Given the description of an element on the screen output the (x, y) to click on. 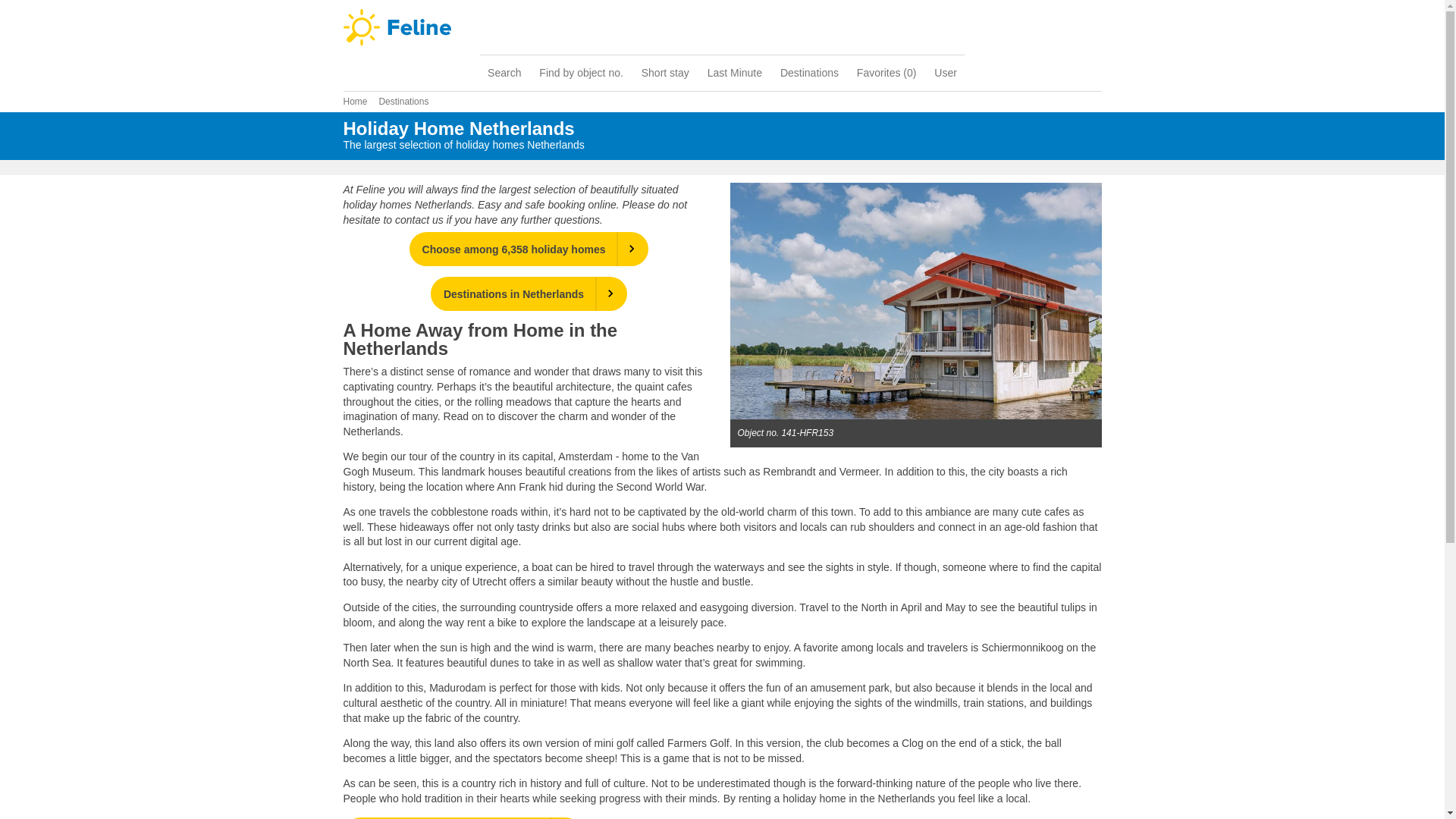
User (944, 73)
Feline Holidays (721, 27)
Destinations in Netherlands (528, 293)
Last Minute (735, 73)
Choose among 6,358 holiday homes (529, 248)
Short stay (665, 73)
Destinations (809, 73)
Home (354, 101)
Destinations (403, 101)
